Given the description of an element on the screen output the (x, y) to click on. 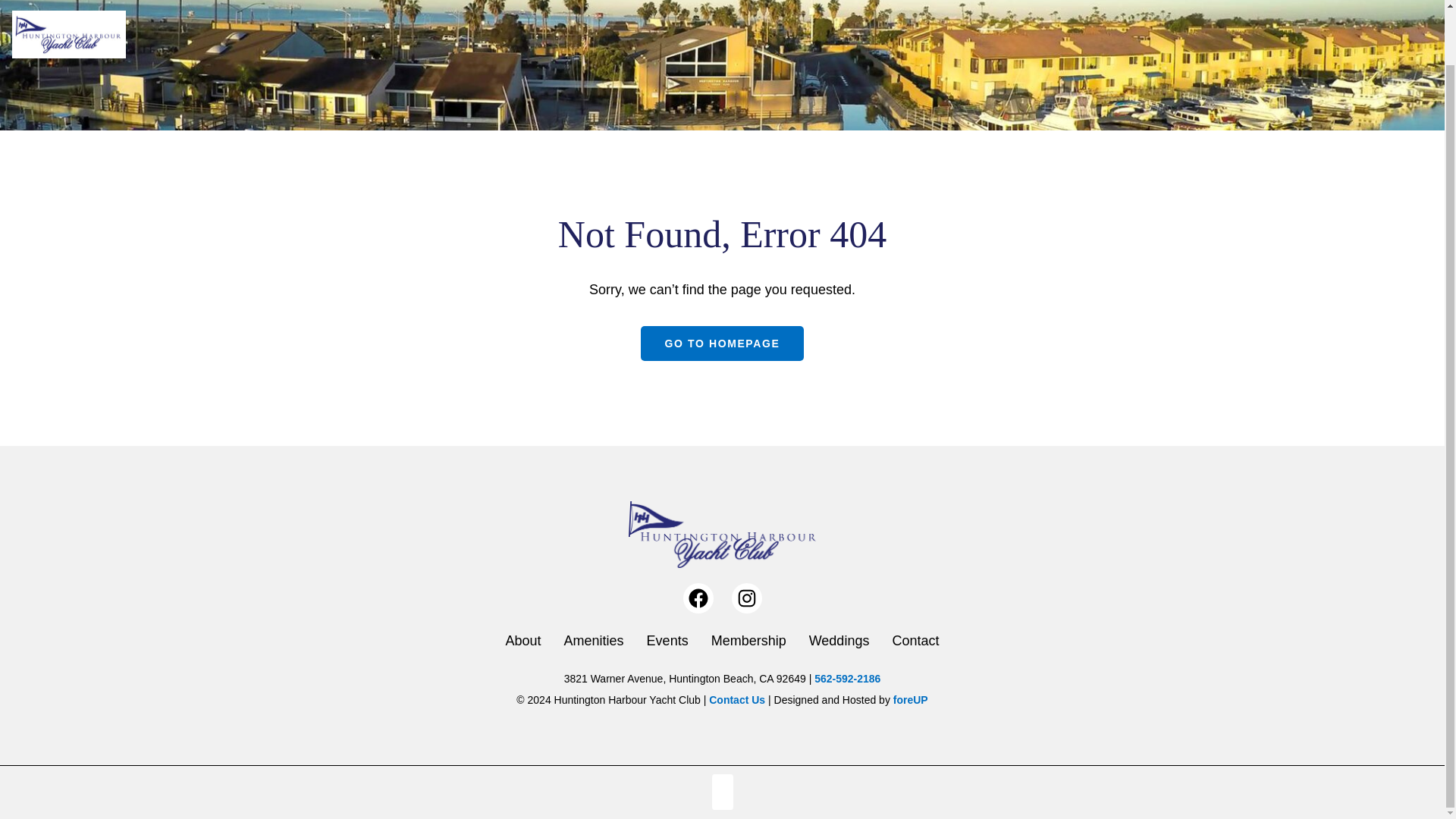
562-592-2186 (846, 678)
foreUP (910, 699)
Membership (748, 640)
About (523, 640)
Contact (915, 640)
Facebook (697, 598)
Contact Us (737, 699)
GO TO HOMEPAGE (722, 343)
Amenities (594, 640)
Events (667, 640)
Weddings (839, 640)
Instagram (745, 598)
